Given the description of an element on the screen output the (x, y) to click on. 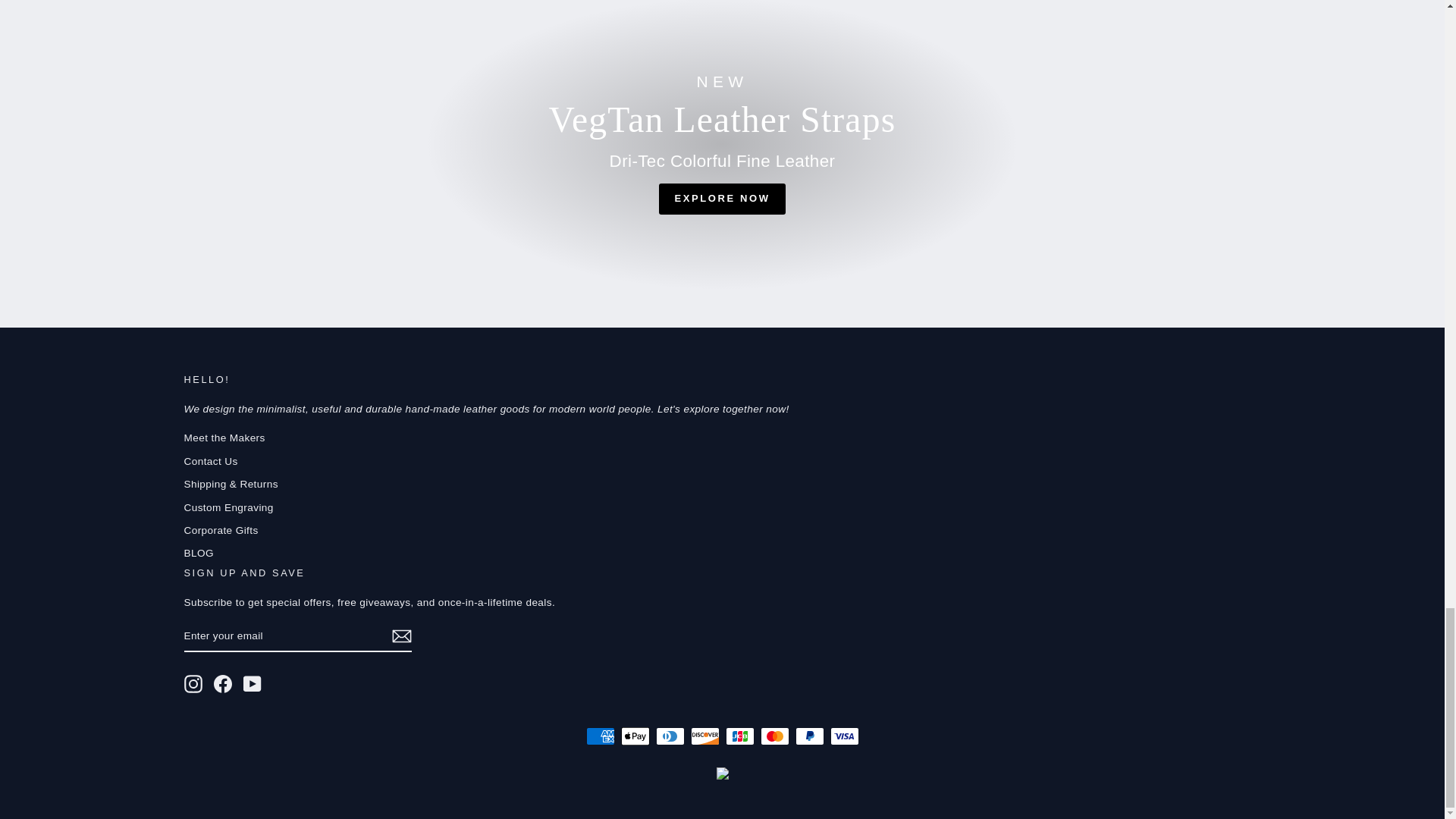
Mastercard (774, 736)
Discover (704, 736)
Visa (844, 736)
American Express (599, 736)
Roarcraft on YouTube (251, 683)
Roarcraft on Instagram (192, 683)
Apple Pay (634, 736)
Roarcraft on Facebook (222, 683)
JCB (739, 736)
Diners Club (669, 736)
PayPal (809, 736)
